Given the description of an element on the screen output the (x, y) to click on. 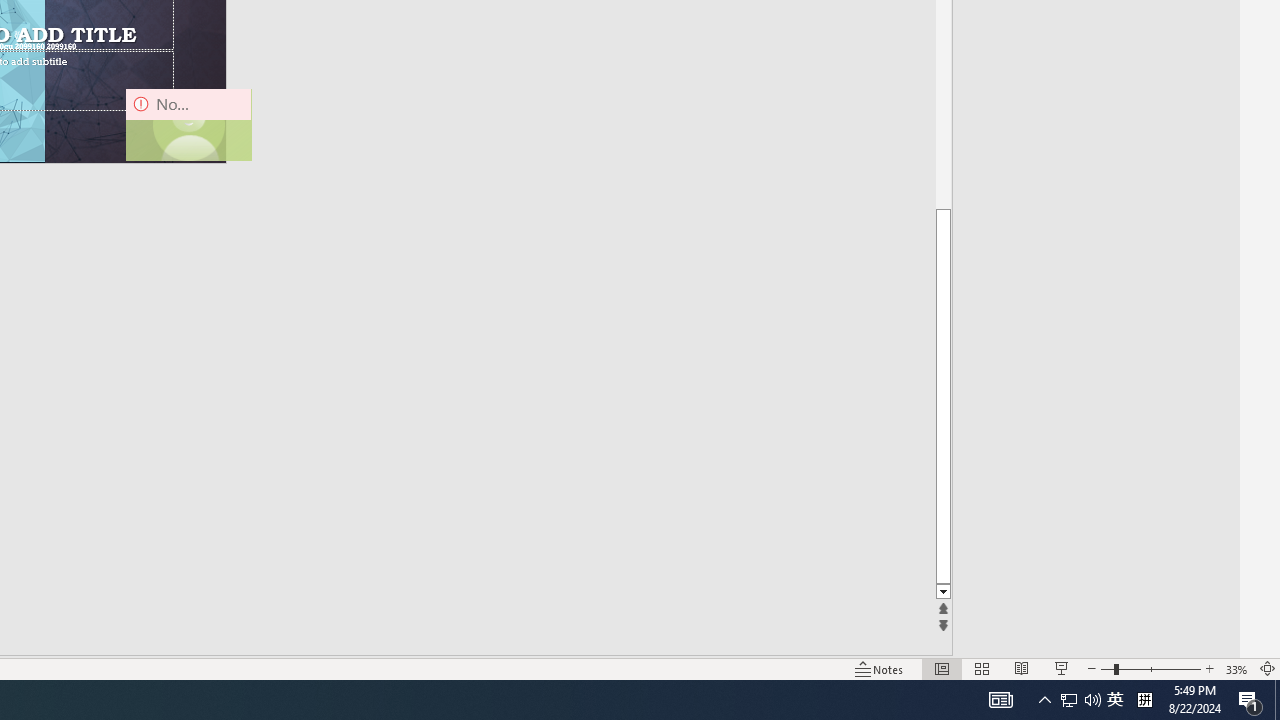
Camera 11, No camera detected. (188, 124)
Camera 14, No camera detected. (188, 124)
TextBox 7 (15, 36)
Zoom 33% (1236, 668)
